Given the description of an element on the screen output the (x, y) to click on. 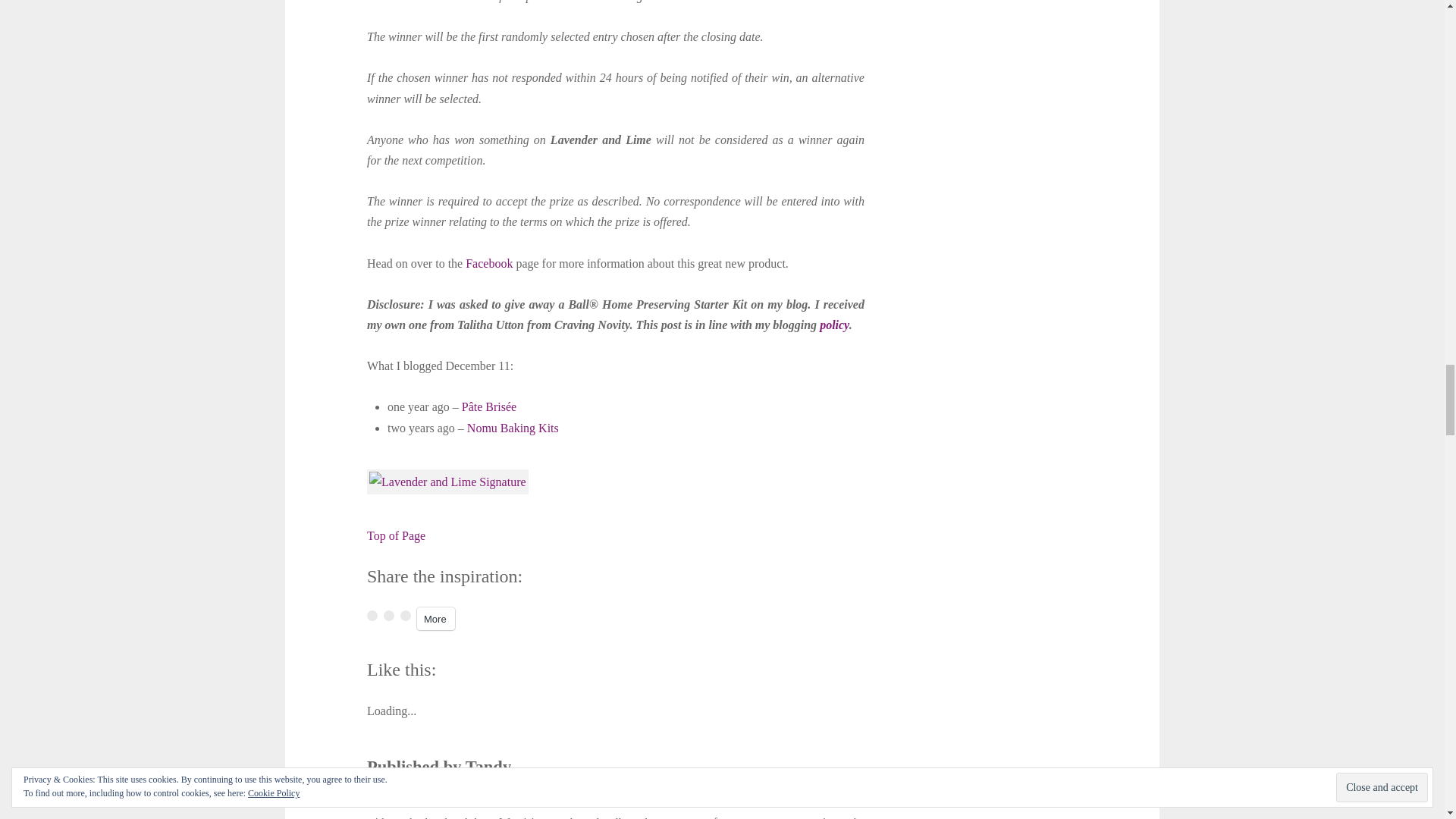
Click to share on Twitter (405, 615)
Top of Page (395, 535)
Facebook (488, 263)
More (435, 618)
Click to share on Pinterest (389, 615)
policy (833, 324)
Click to share on Facebook (371, 615)
Nomu Baking Kits (513, 427)
